Given the description of an element on the screen output the (x, y) to click on. 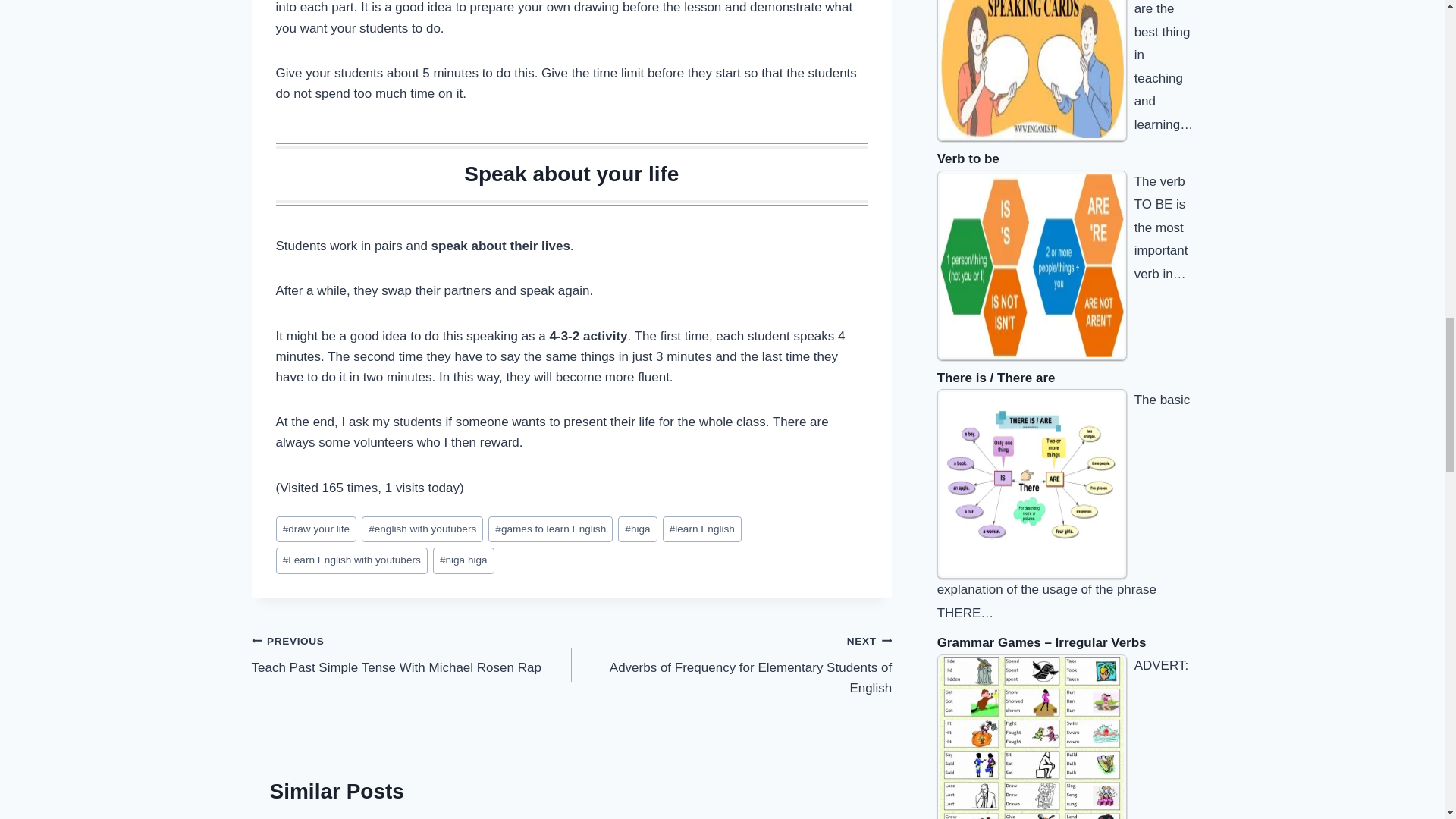
learn English (701, 529)
draw your life (316, 529)
Learn English with youtubers (731, 663)
higa (352, 560)
english with youtubers (637, 529)
niga higa (422, 529)
games to learn English (463, 560)
